Given the description of an element on the screen output the (x, y) to click on. 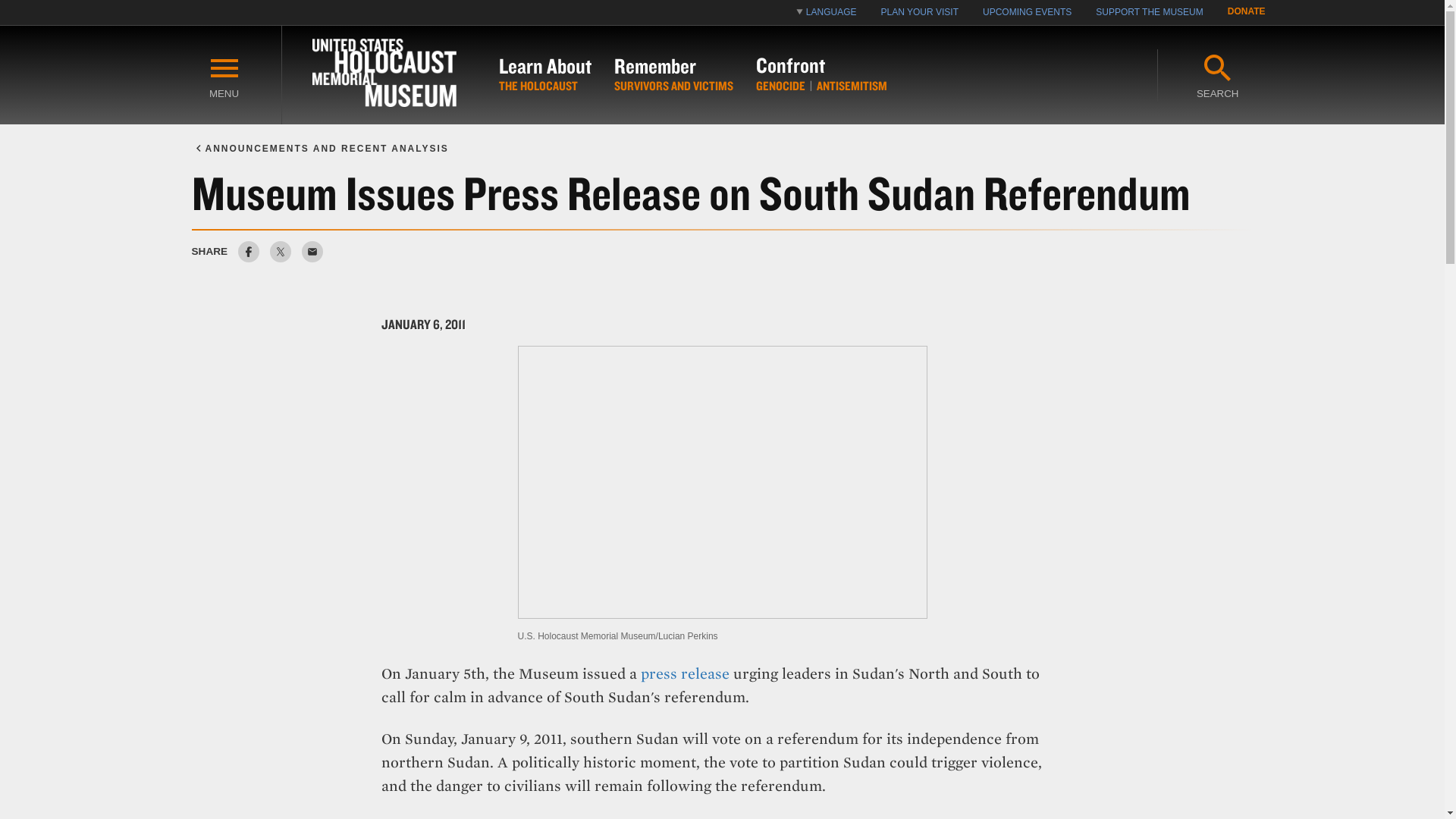
SUPPORT THE MUSEUM (1148, 12)
Skip to main content (35, 23)
UPCOMING EVENTS (1027, 12)
LANGUAGE (826, 12)
DONATE (1246, 11)
PLAN YOUR VISIT (920, 12)
